Given the description of an element on the screen output the (x, y) to click on. 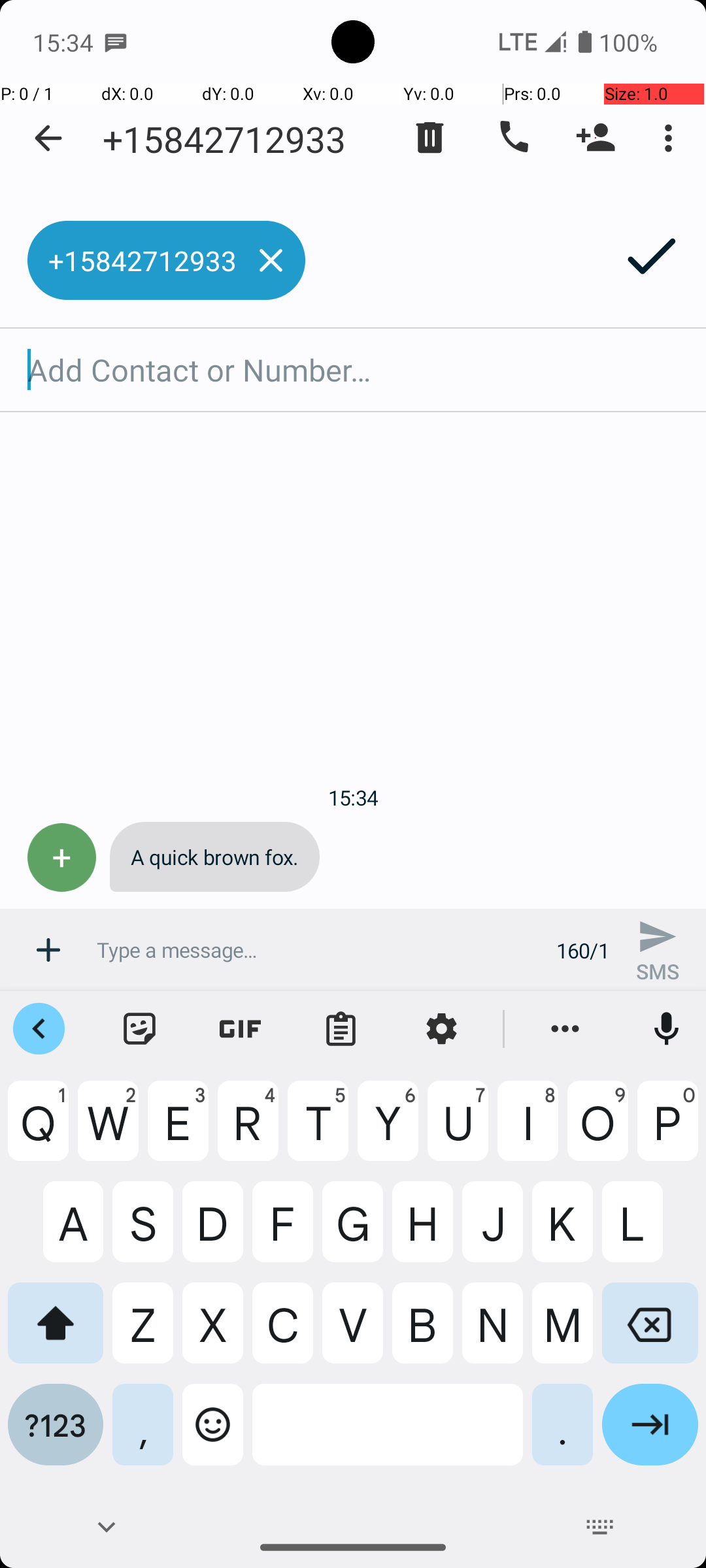
+15842712933 Element type: android.widget.TextView (223, 138)
160/1 Element type: android.widget.TextView (582, 950)
A quick brown fox. Element type: android.widget.TextView (214, 856)
